Given the description of an element on the screen output the (x, y) to click on. 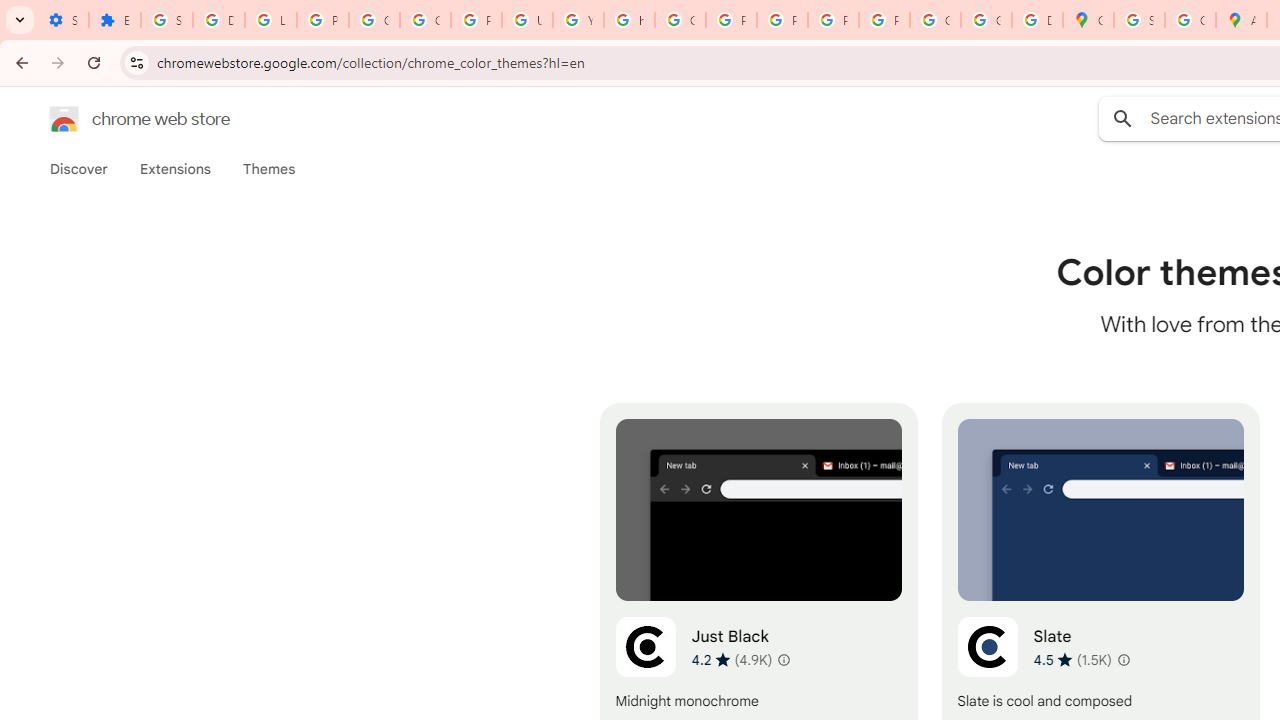
Learn more about results and reviews "Just Black" (783, 659)
Sign in - Google Accounts (1138, 20)
Chrome Web Store logo chrome web store (118, 118)
Privacy Help Center - Policies Help (731, 20)
Average rating 4.5 out of 5 stars. 1.5K ratings. (1072, 659)
